Given the description of an element on the screen output the (x, y) to click on. 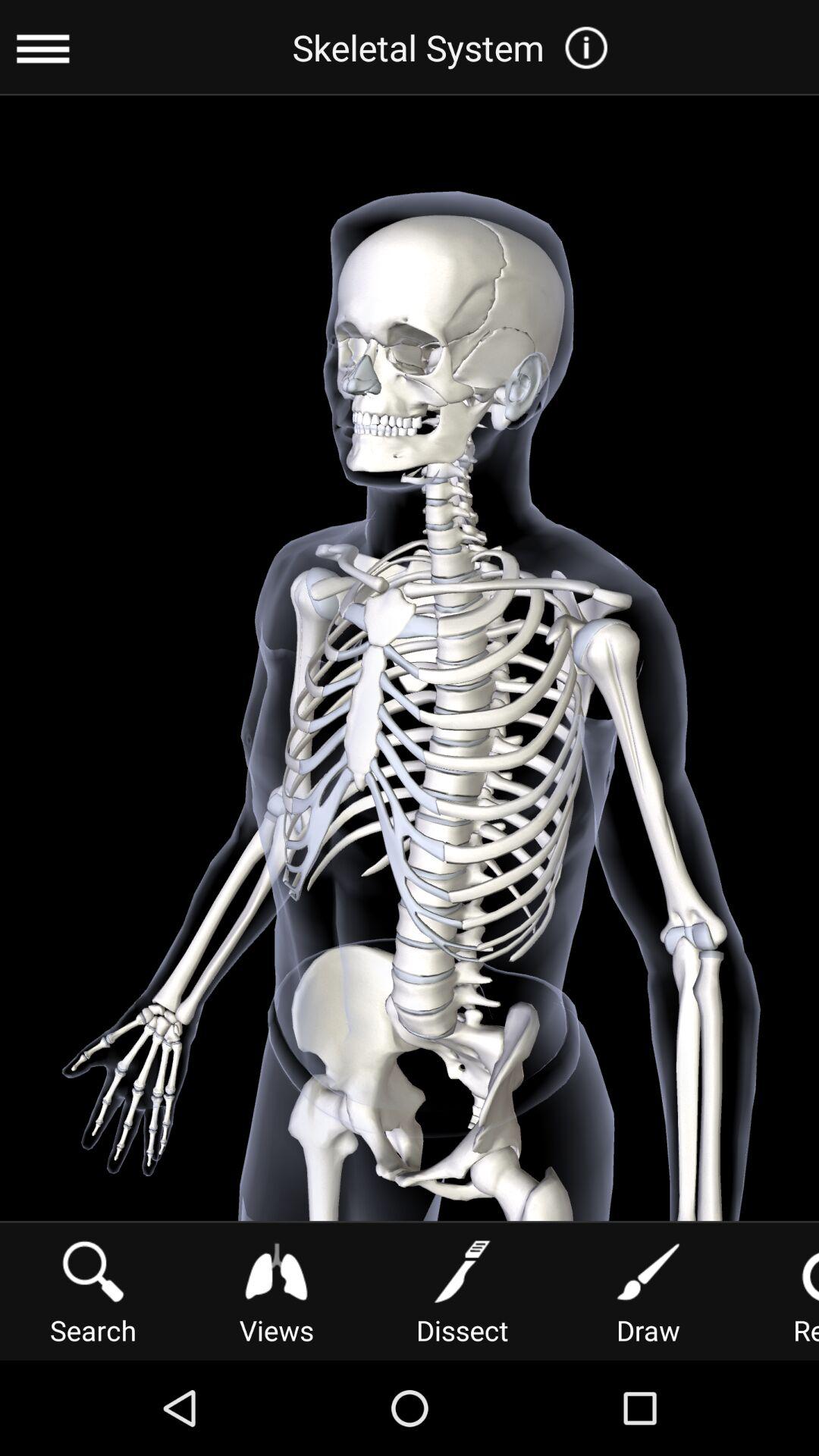
turn on button next to views (93, 1290)
